Given the description of an element on the screen output the (x, y) to click on. 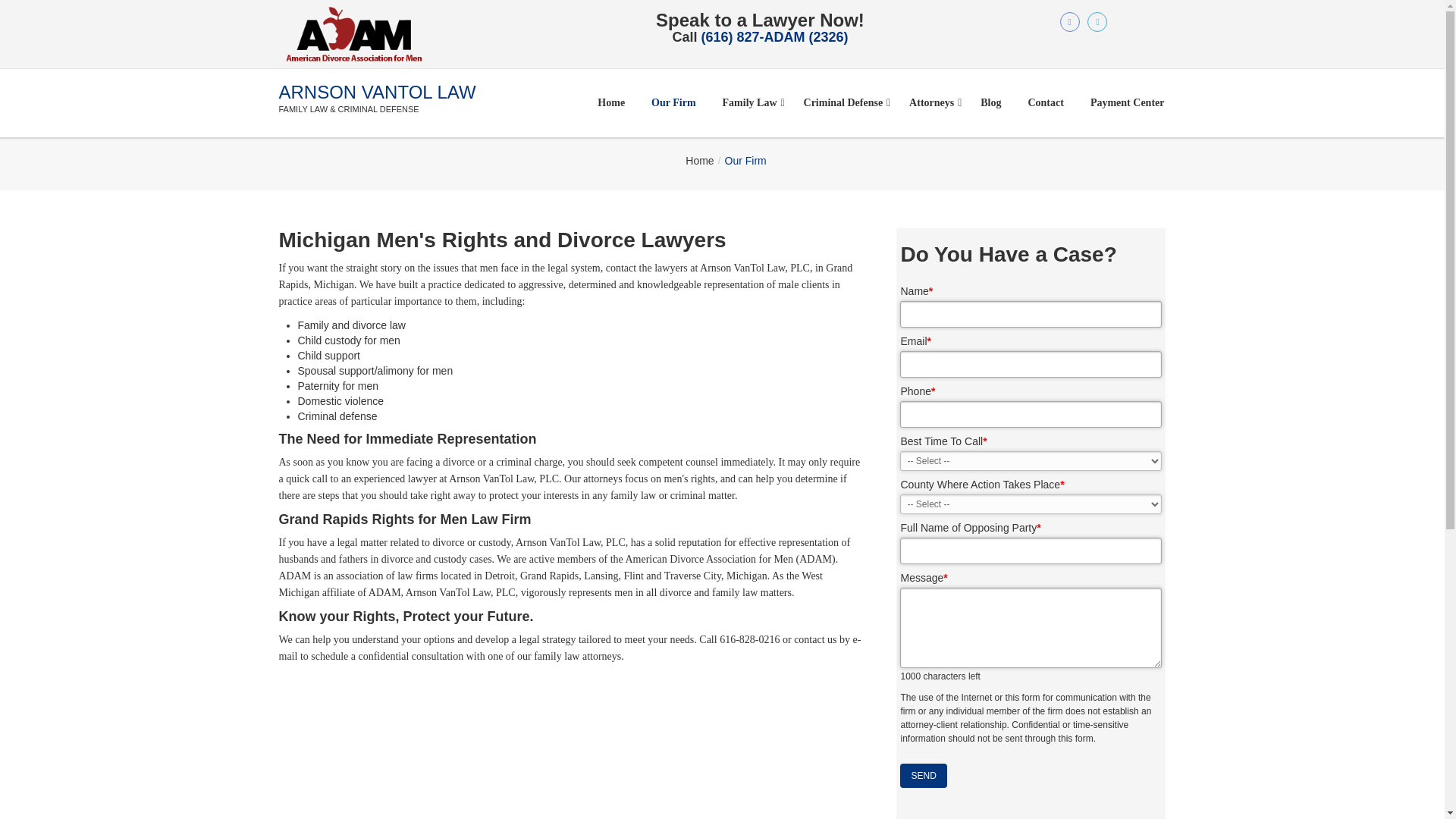
ARNSON VANTOL LAW (377, 91)
Criminal Defense (843, 102)
Family Law (750, 102)
Home (611, 102)
Attorneys (931, 102)
Our Firm (673, 102)
